Given the description of an element on the screen output the (x, y) to click on. 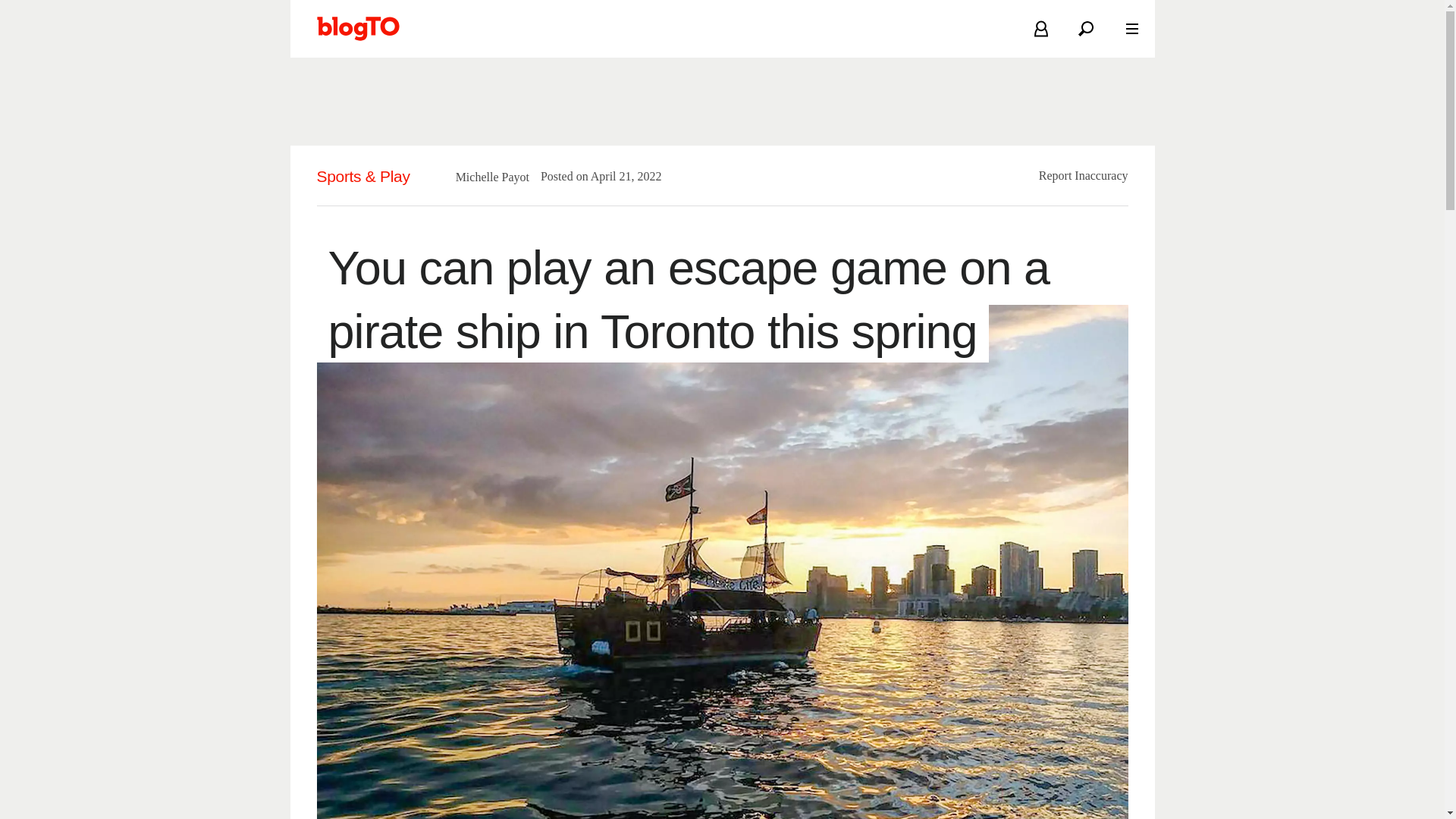
2022-04-21T08:00:00 (619, 175)
